Given the description of an element on the screen output the (x, y) to click on. 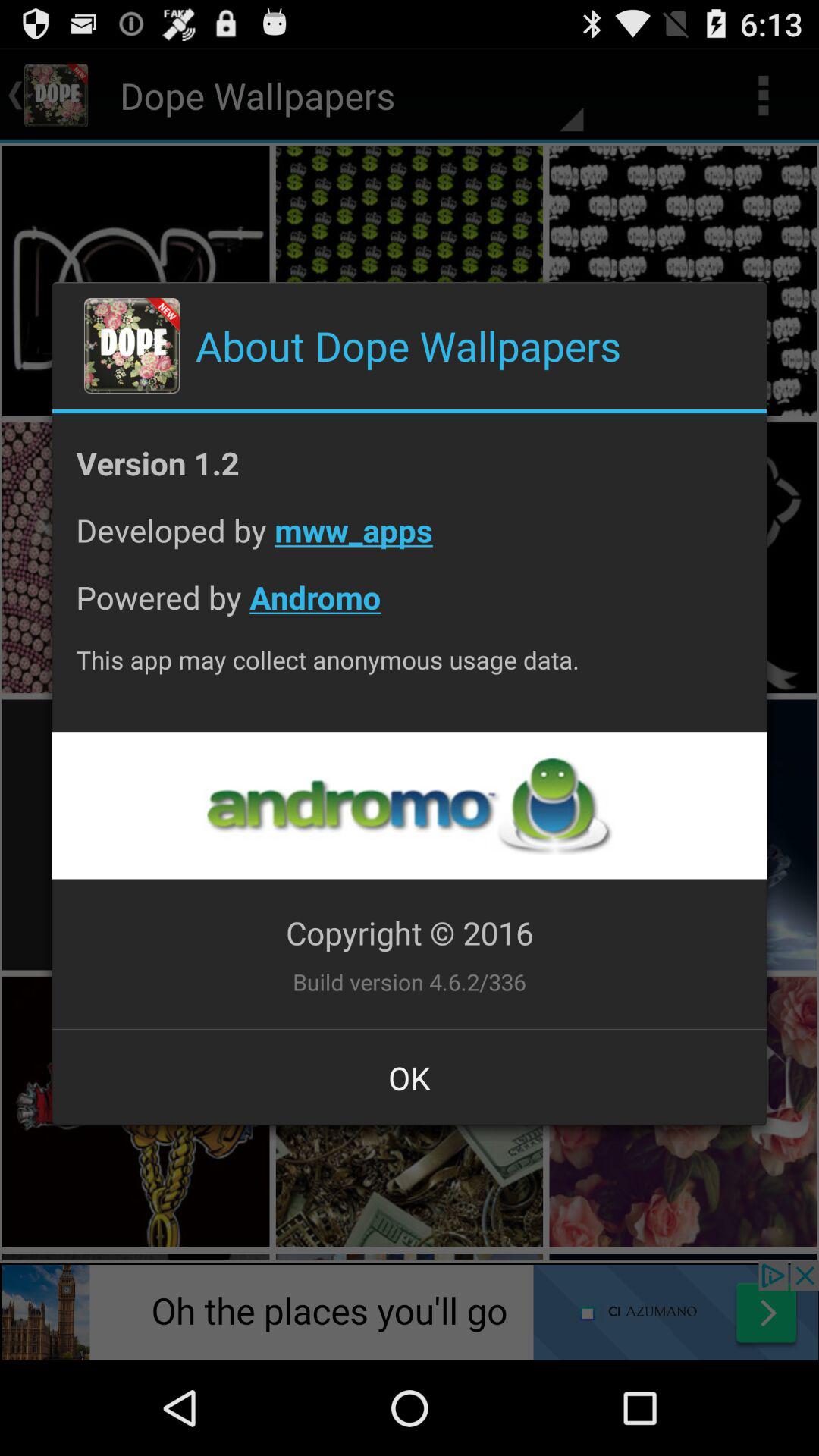
jump to ok item (409, 1077)
